Given the description of an element on the screen output the (x, y) to click on. 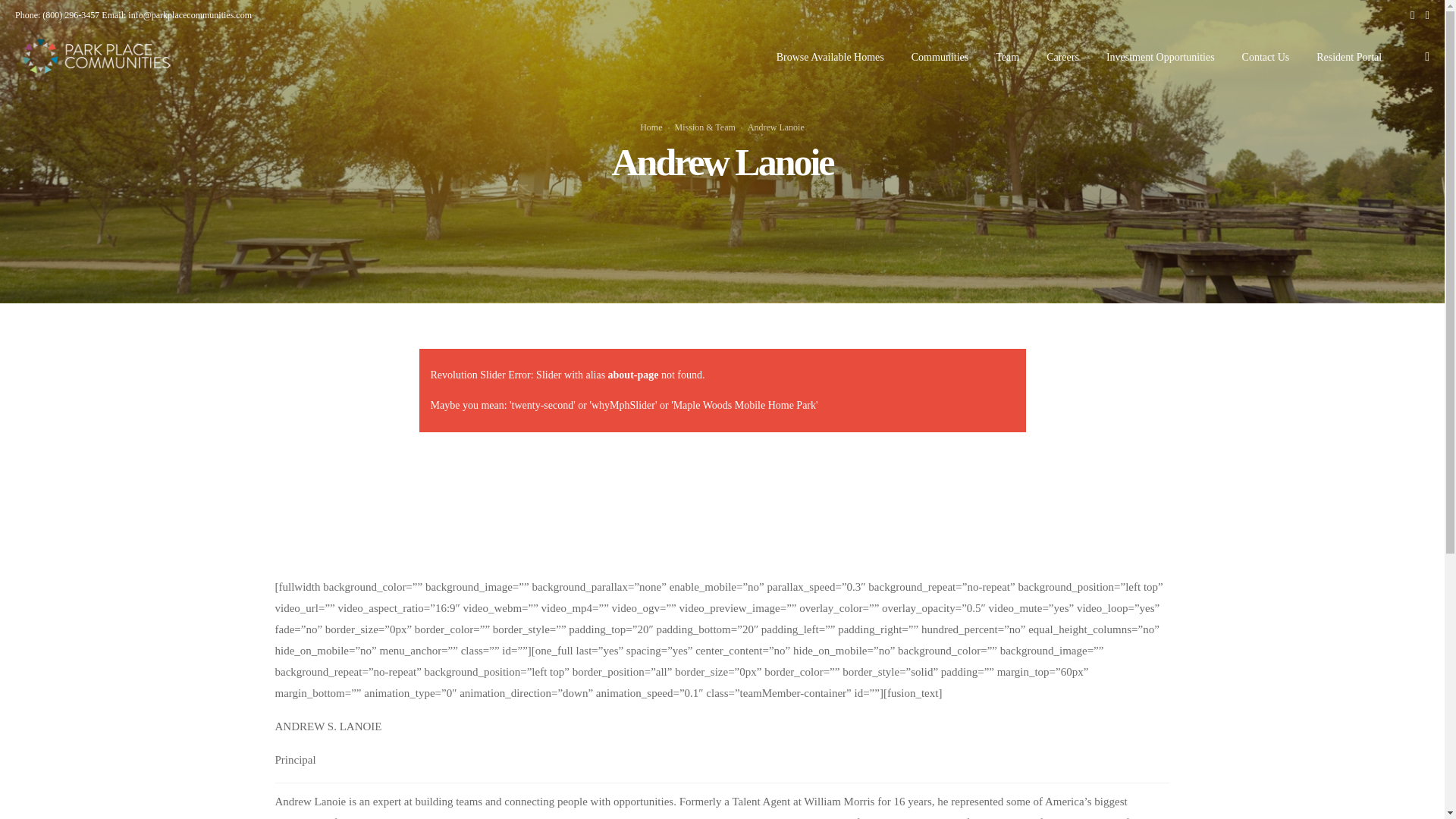
Search (1072, 413)
Instagram (1427, 15)
Facebook (1412, 15)
Investment Opportunities (1160, 57)
Browse Available Homes (829, 57)
Home (651, 127)
Contact Us (1265, 57)
Resident Portal (1348, 57)
Site logo (97, 56)
Communities (939, 57)
